Given the description of an element on the screen output the (x, y) to click on. 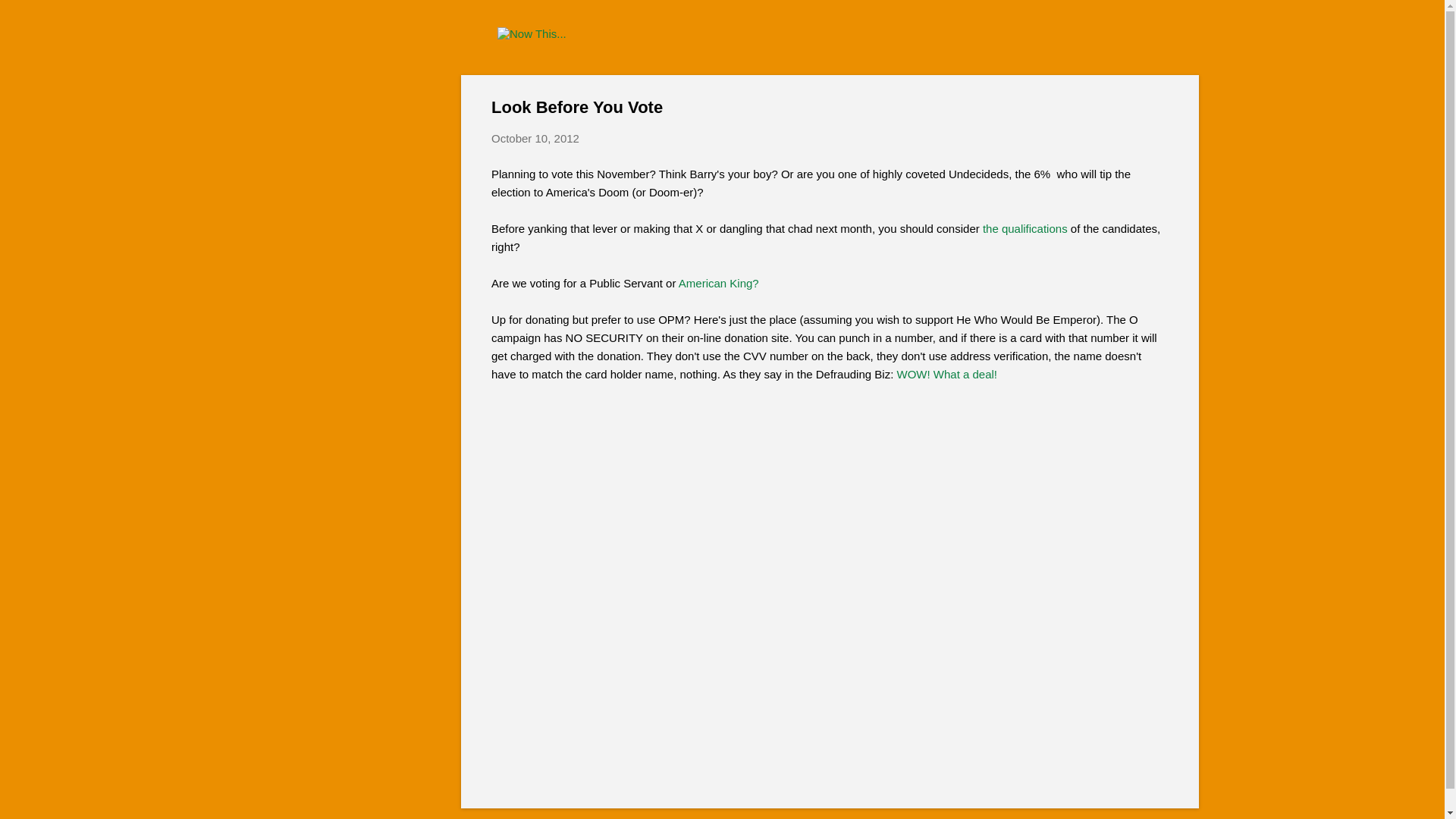
the qualifications (1024, 227)
WOW! What a deal! (946, 373)
October 10, 2012 (535, 137)
permanent link (535, 137)
American King? (718, 282)
